Given the description of an element on the screen output the (x, y) to click on. 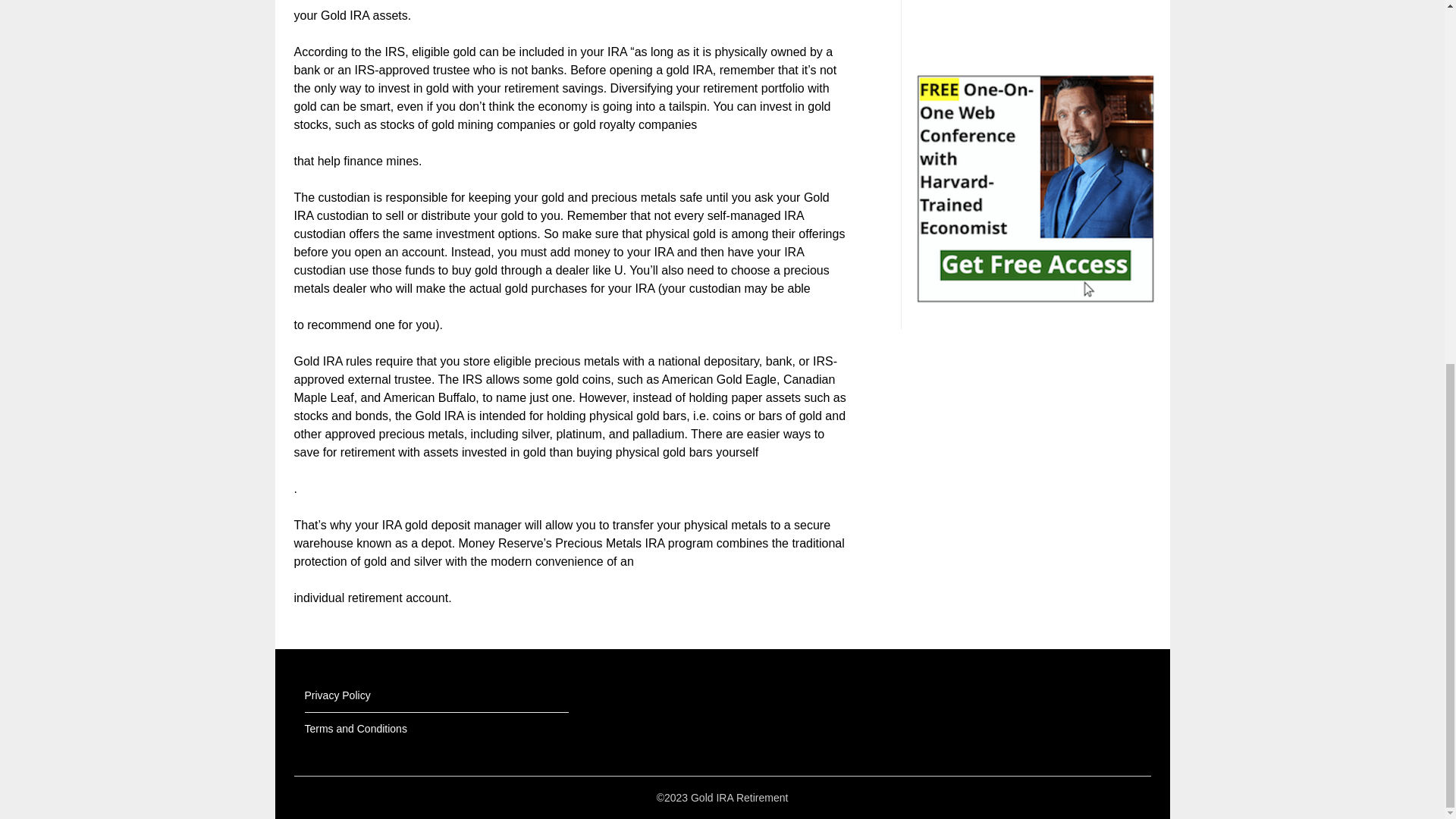
Terms and Conditions (355, 728)
Privacy Policy (337, 695)
